Given the description of an element on the screen output the (x, y) to click on. 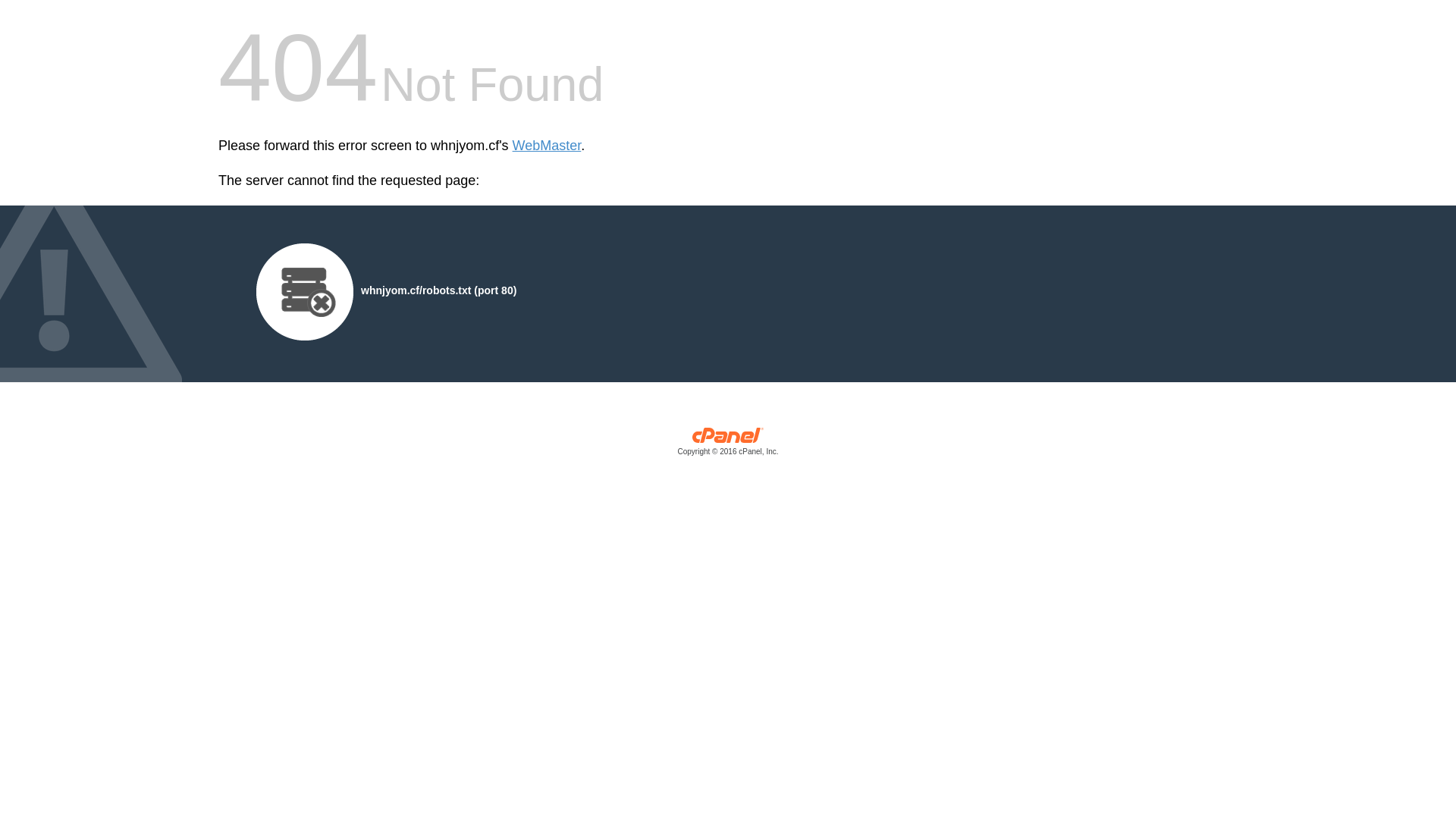
WebMaster Element type: text (546, 145)
